Given the description of an element on the screen output the (x, y) to click on. 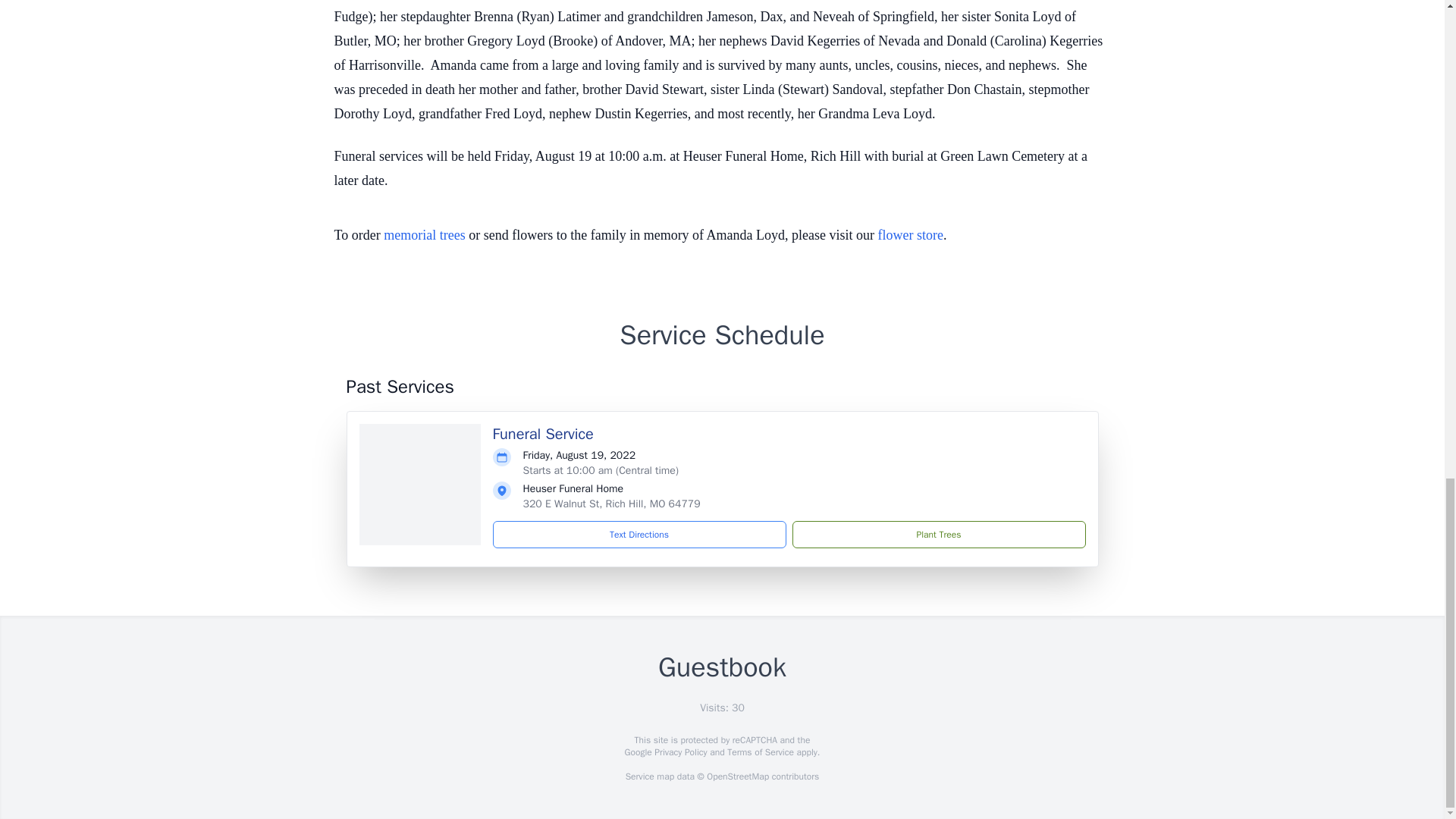
OpenStreetMap (737, 776)
Privacy Policy (679, 752)
Text Directions (639, 533)
Terms of Service (759, 752)
flower store (910, 234)
320 E Walnut St, Rich Hill, MO 64779 (611, 503)
Plant Trees (938, 533)
memorial trees (424, 234)
